Given the description of an element on the screen output the (x, y) to click on. 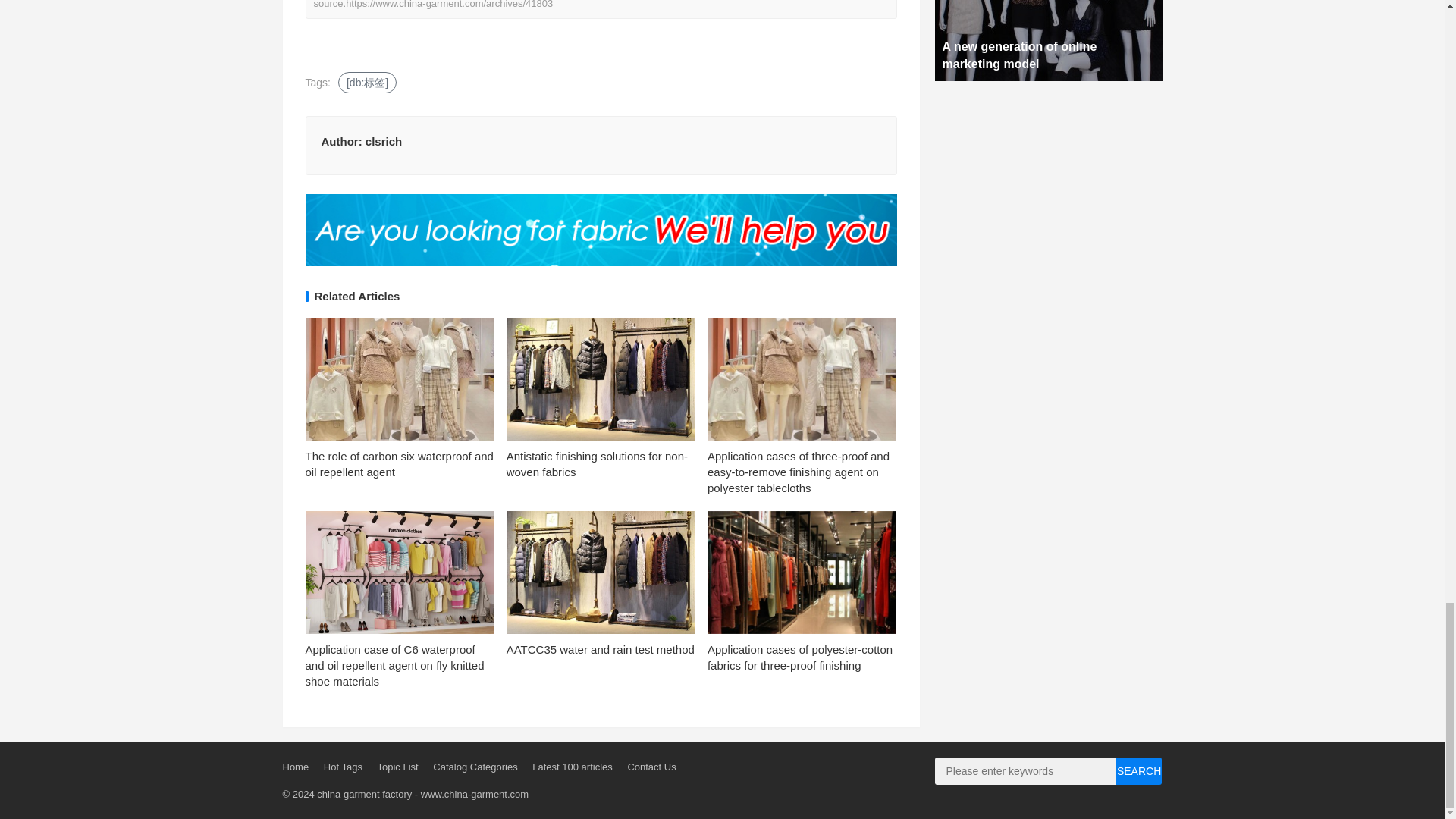
clsrich (383, 141)
AATCC35 water and rain test method (600, 649)
Antistatic finishing solutions for non-woven fabrics (596, 463)
The role of carbon six waterproof and oil repellent agent (398, 463)
